Given the description of an element on the screen output the (x, y) to click on. 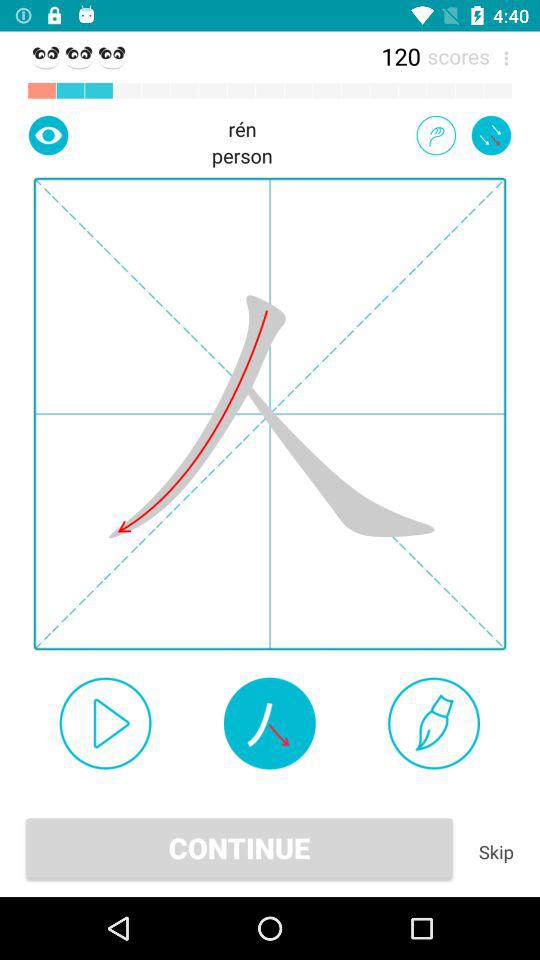
turn off skip app (495, 851)
